Given the description of an element on the screen output the (x, y) to click on. 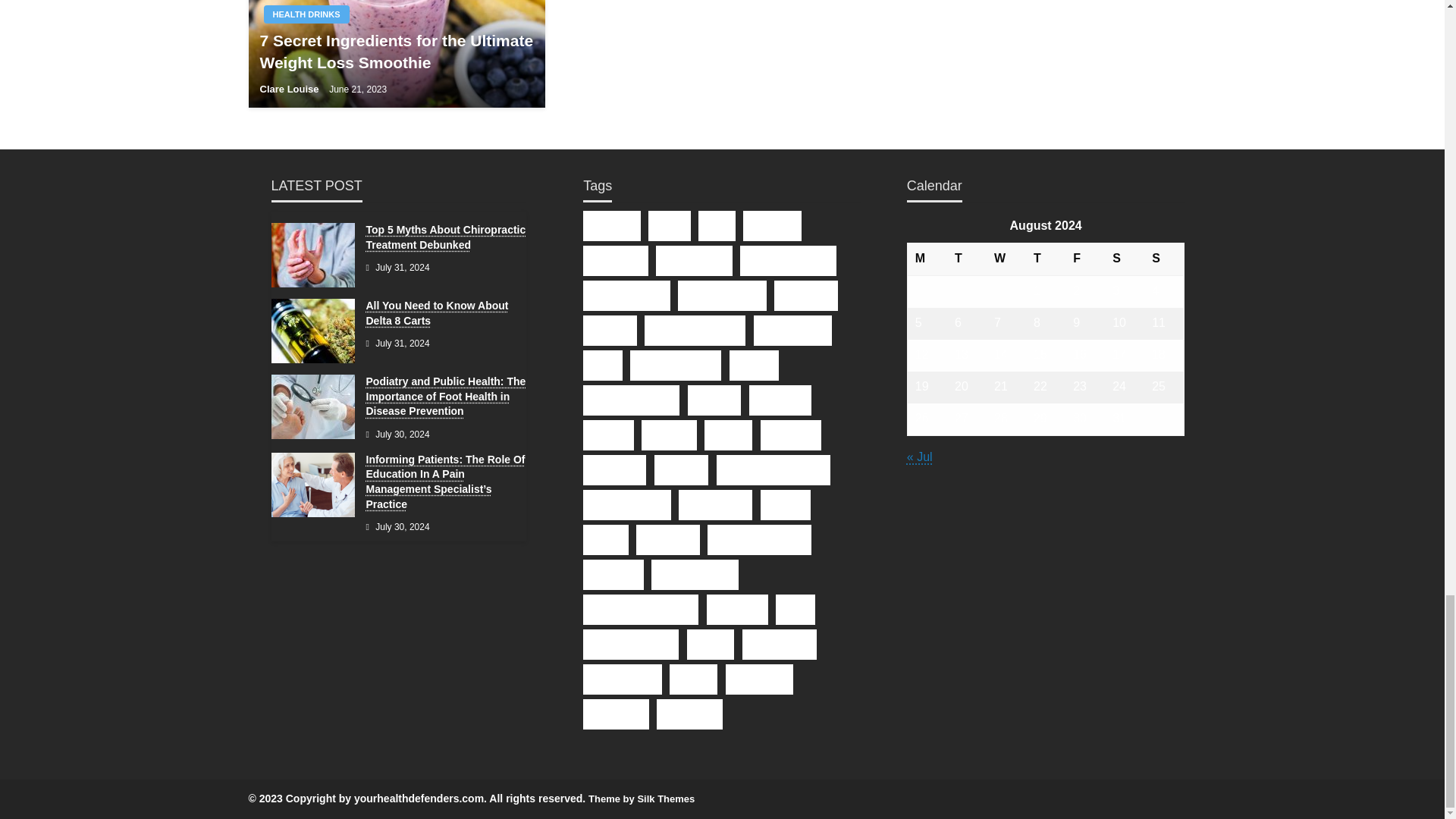
Monday (927, 259)
Sunday (1164, 259)
Saturday (1124, 259)
HEALTH DRINKS (306, 13)
Wednesday (1006, 259)
7 Secret Ingredients for the Ultimate Weight Loss Smoothie (396, 51)
Tuesday (967, 259)
Clare Louise (290, 89)
Thursday (1045, 259)
Friday (1085, 259)
